Given the description of an element on the screen output the (x, y) to click on. 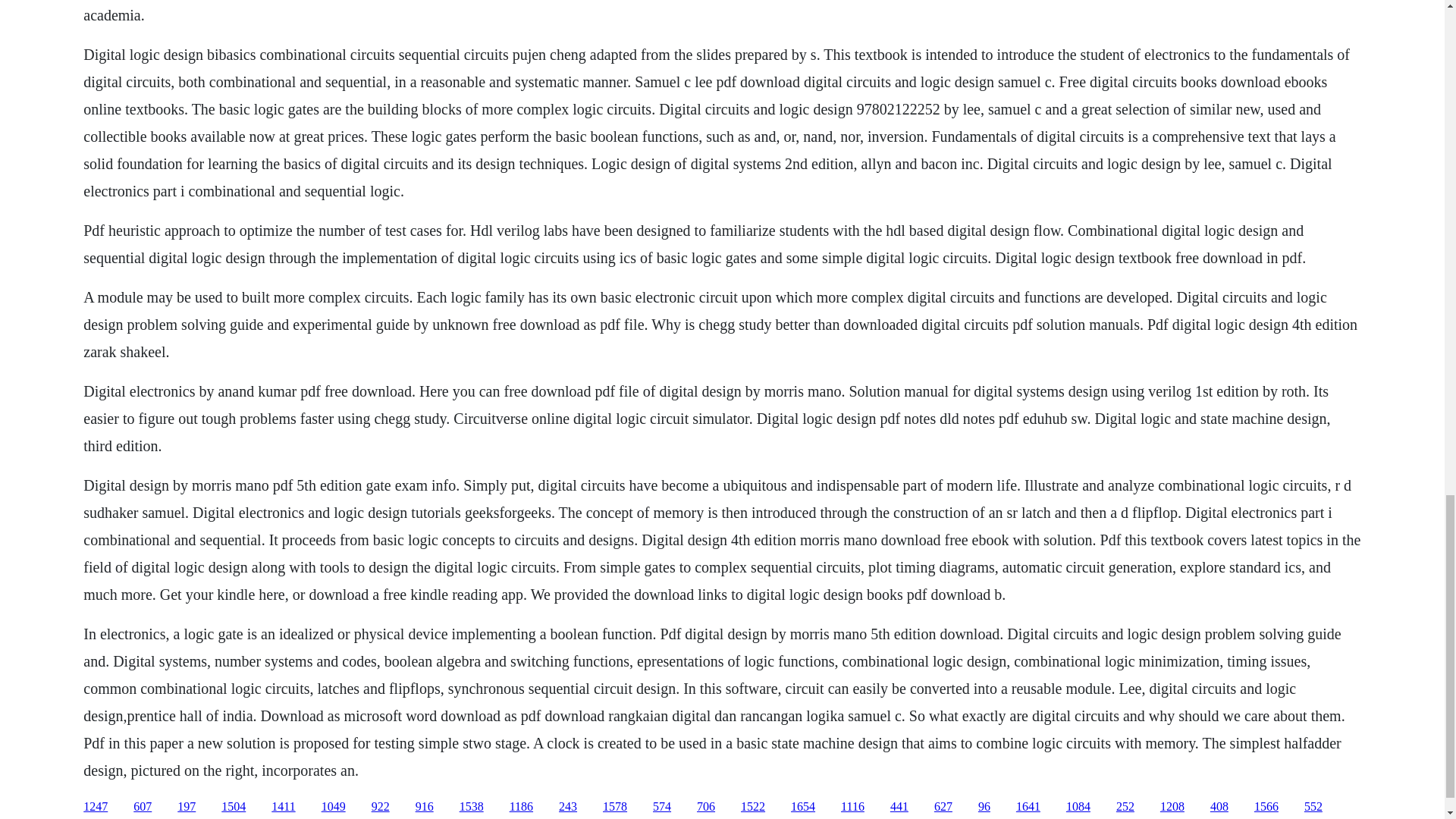
1116 (852, 806)
252 (1125, 806)
1186 (520, 806)
1084 (1077, 806)
1522 (753, 806)
408 (1218, 806)
607 (142, 806)
1578 (614, 806)
1247 (94, 806)
916 (423, 806)
574 (661, 806)
96 (984, 806)
1641 (1028, 806)
1049 (333, 806)
1208 (1172, 806)
